Given the description of an element on the screen output the (x, y) to click on. 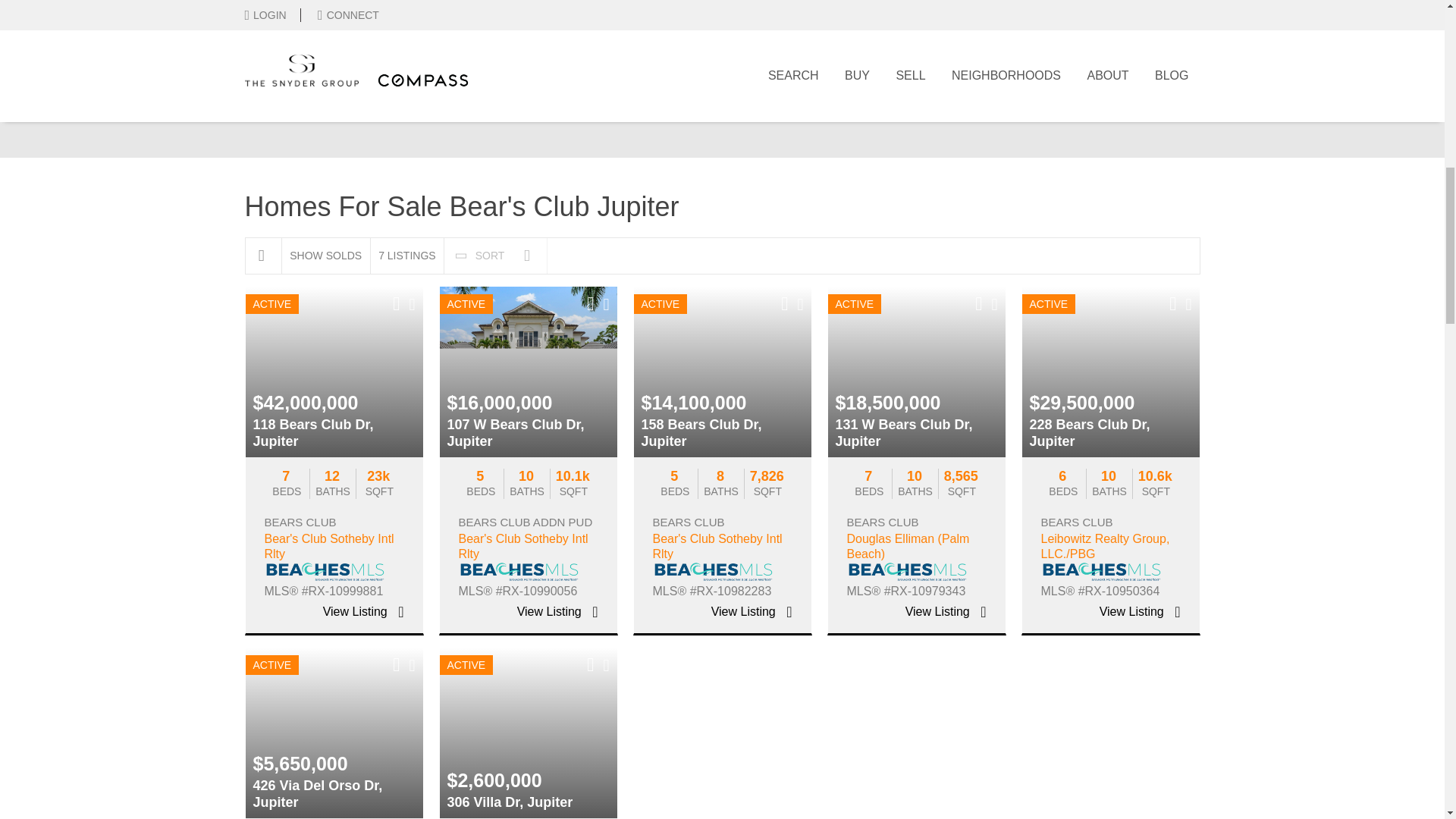
View more information about 107 W Bears Club Dr. (528, 371)
View more information about 118 Bears Club Dr. (334, 371)
View more information about 107 W Bears Club Dr. (557, 612)
View more information about 158 Bears Club Dr. (721, 371)
View more information about 118 Bears Club Dr. (363, 612)
